Given the description of an element on the screen output the (x, y) to click on. 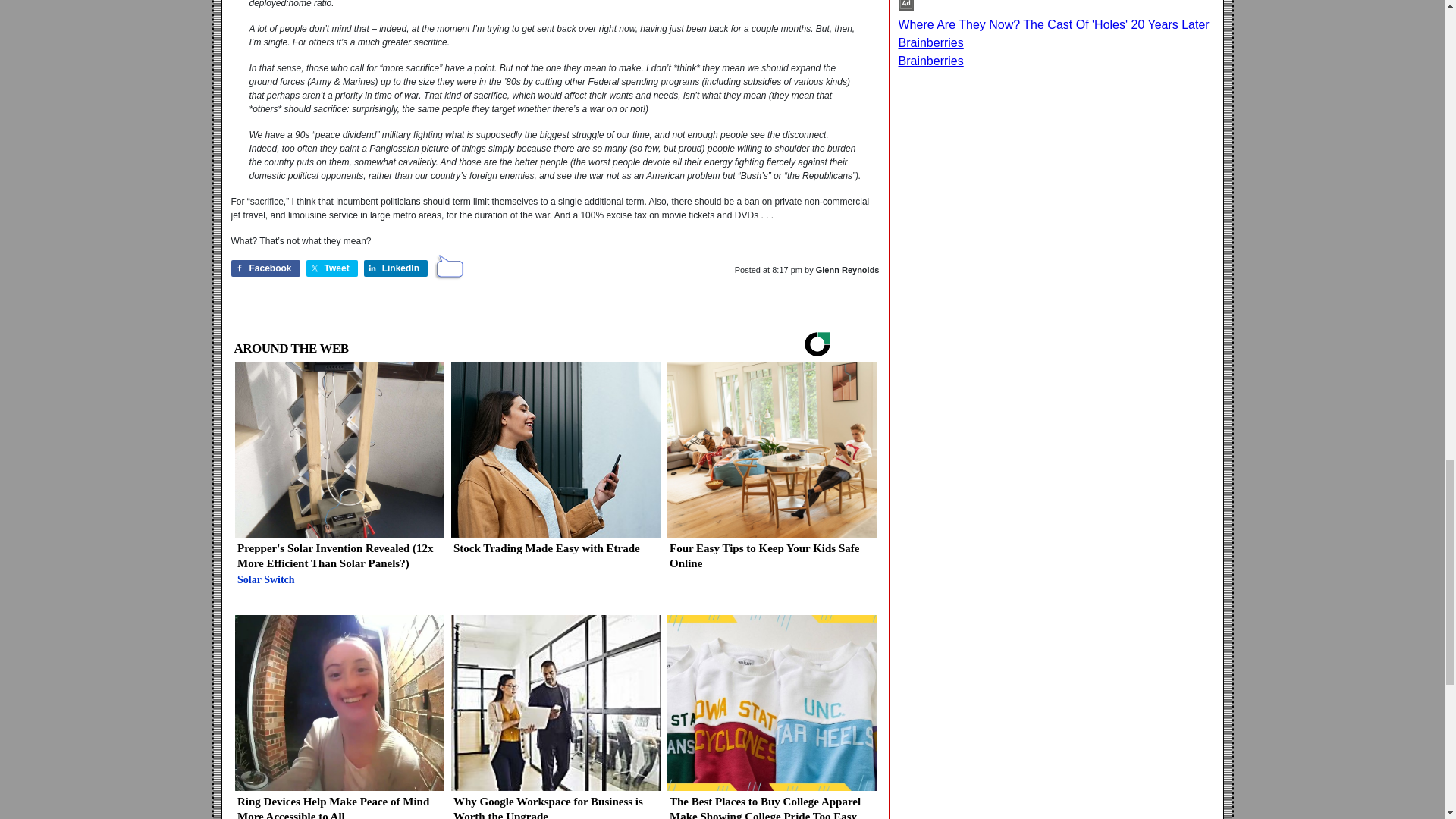
Why Google Workspace for Business is Worth the Upgrade (554, 717)
Facebook (264, 268)
Tweet (331, 268)
Ring Devices Help Make Peace of Mind More Accessible to All (338, 717)
Ring Devices Help Make Peace of Mind More Accessible to All (338, 717)
Four Easy Tips to Keep Your Kids Safe Online (770, 471)
Glenn Reynolds (847, 269)
Share on Facebook (264, 268)
Why Google Workspace for Business is Worth the Upgrade (554, 717)
Four Easy Tips to Keep Your Kids Safe Online (770, 471)
Stock Trading Made Easy with Etrade (554, 464)
Share on Twitter (331, 268)
Stock Trading Made Easy with Etrade (554, 464)
